Given the description of an element on the screen output the (x, y) to click on. 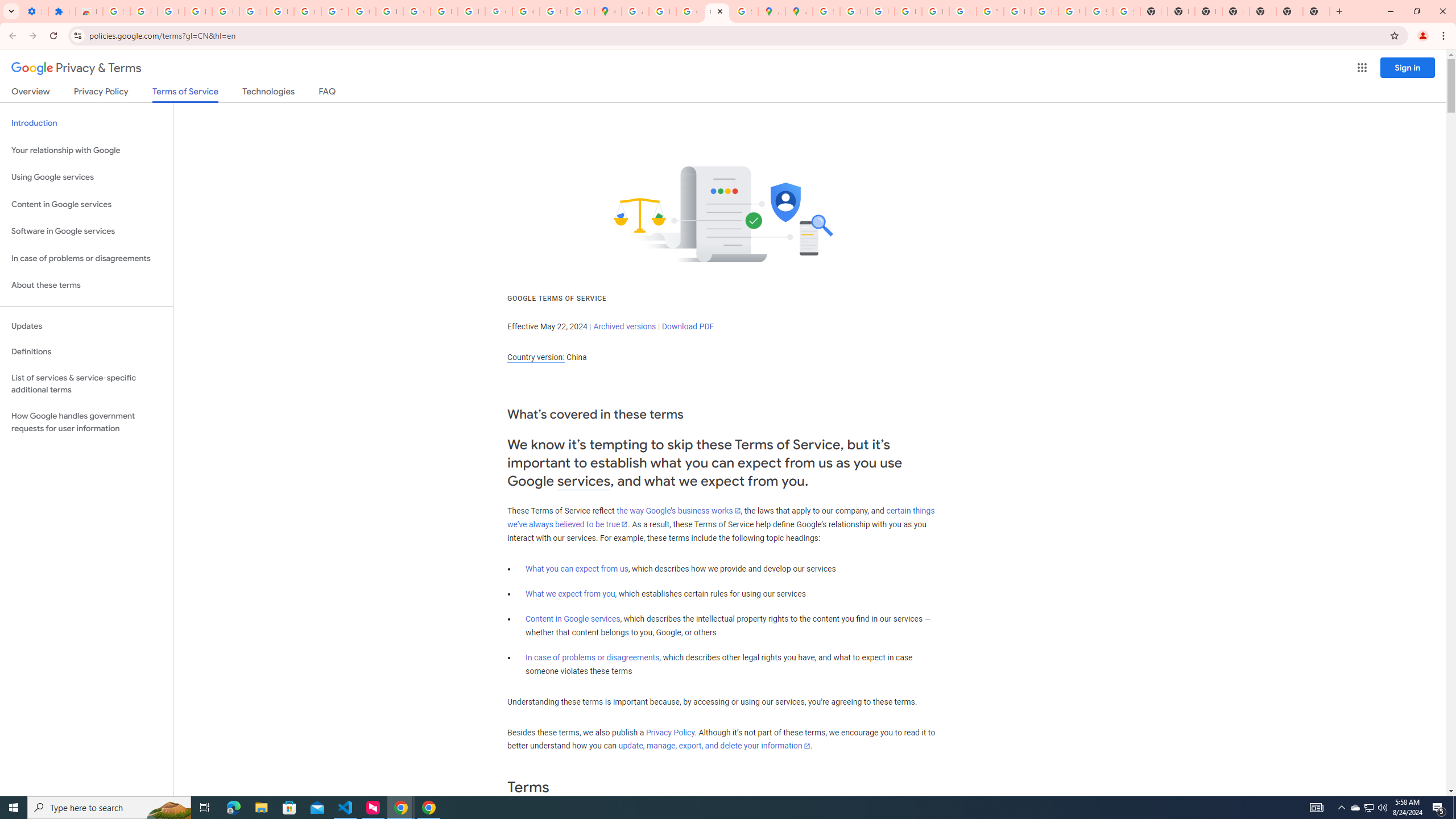
YouTube (334, 11)
Software in Google services (86, 230)
Country version: (535, 357)
How Google handles government requests for user information (86, 422)
Download PDF (687, 326)
